Given the description of an element on the screen output the (x, y) to click on. 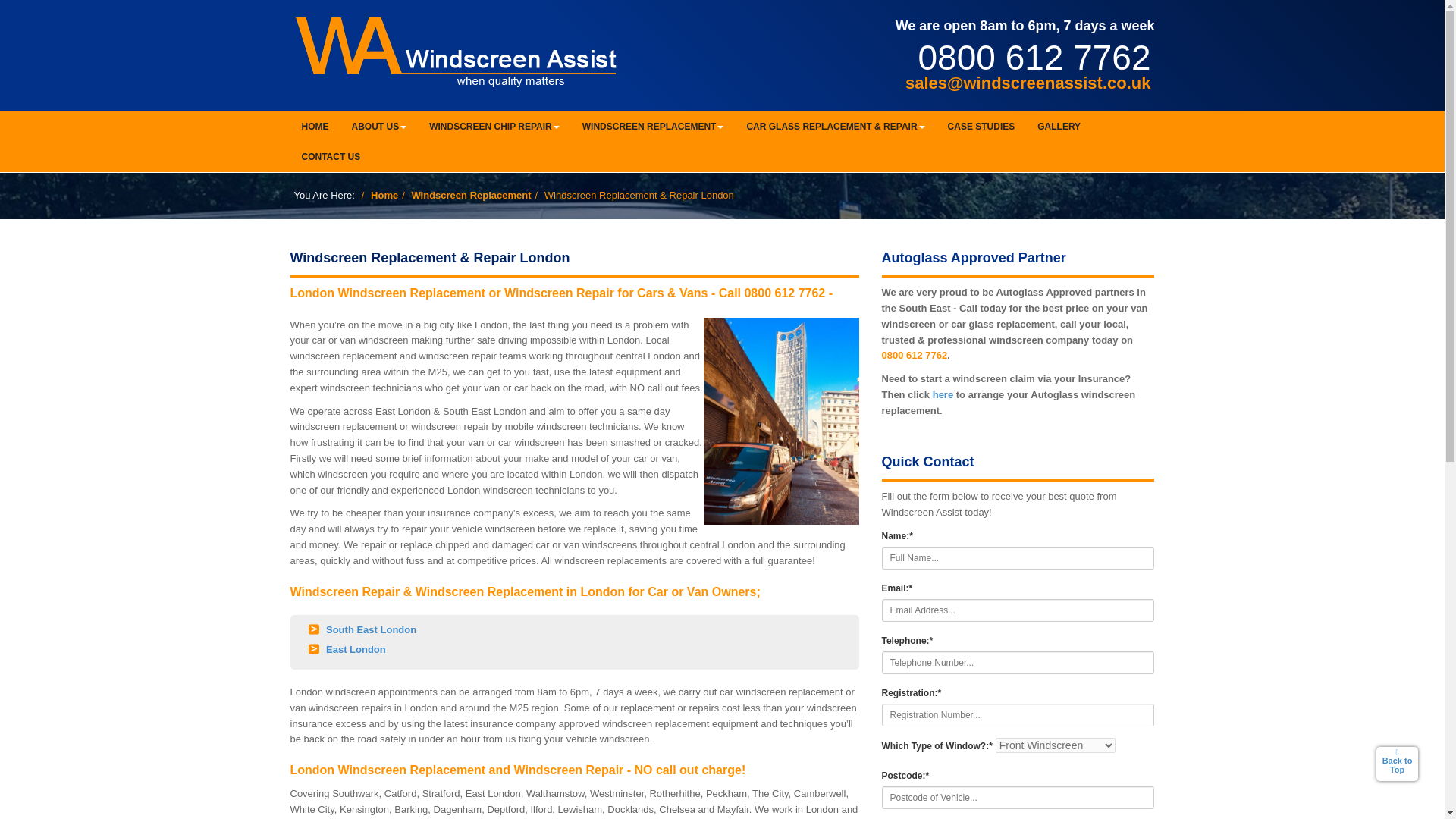
Reviews - Page 12 (94, 513)
Reviews - Page 1 (94, 208)
Reviews - Page 16 (94, 624)
Reviews - Page 7 (94, 375)
Reviews - Page 6 (94, 347)
Reviews - Page 8 (94, 402)
Windscreen Chip Repair London (94, 791)
Reviews - Page 9 (94, 430)
Reviews - Page 2 (94, 236)
Reviews - Page 13 (94, 541)
